Given the description of an element on the screen output the (x, y) to click on. 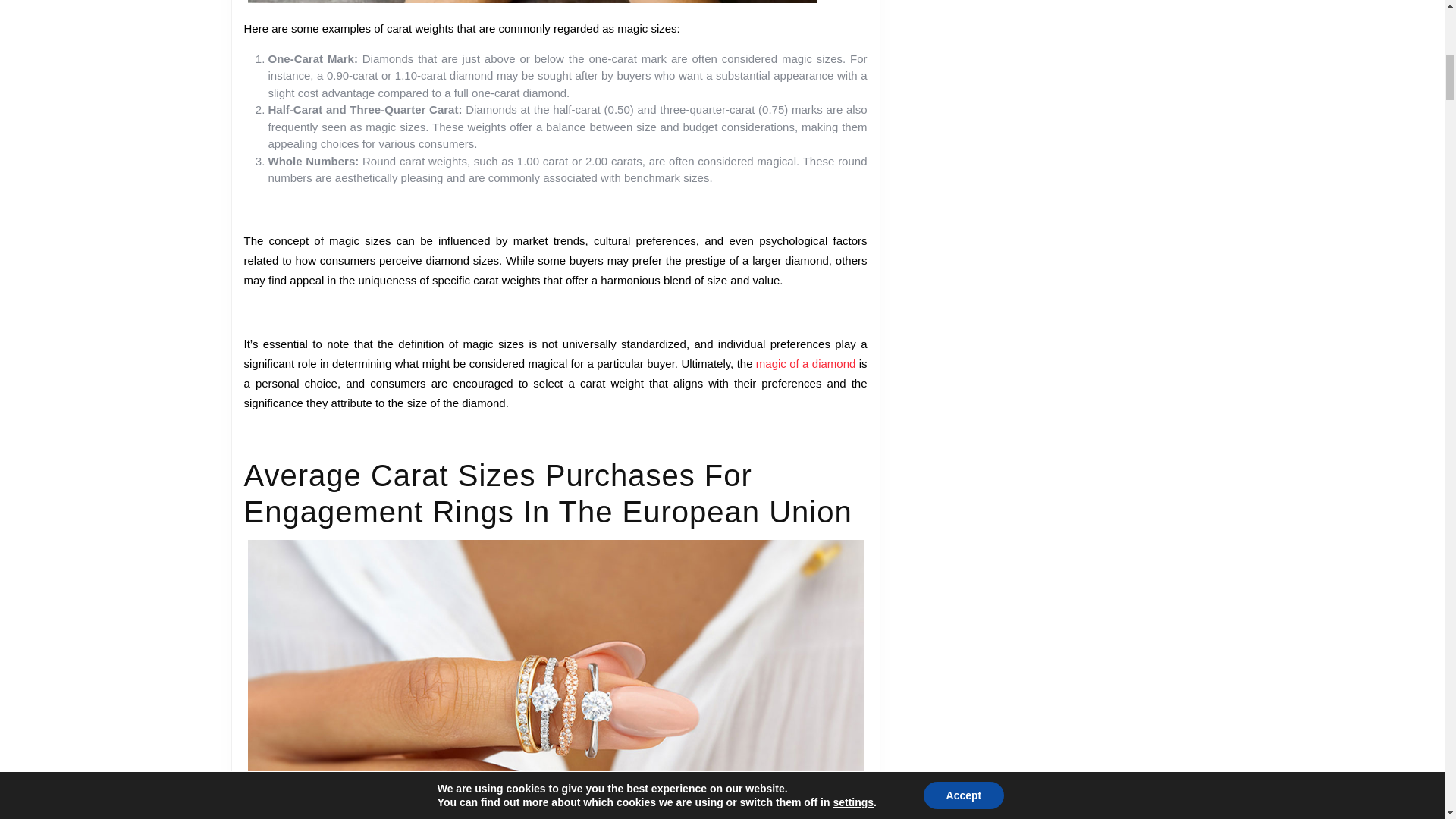
Diamond Carat (518, 126)
What is a Magic Size Diamond (598, 117)
magic of a diamond (464, 146)
